Given the description of an element on the screen output the (x, y) to click on. 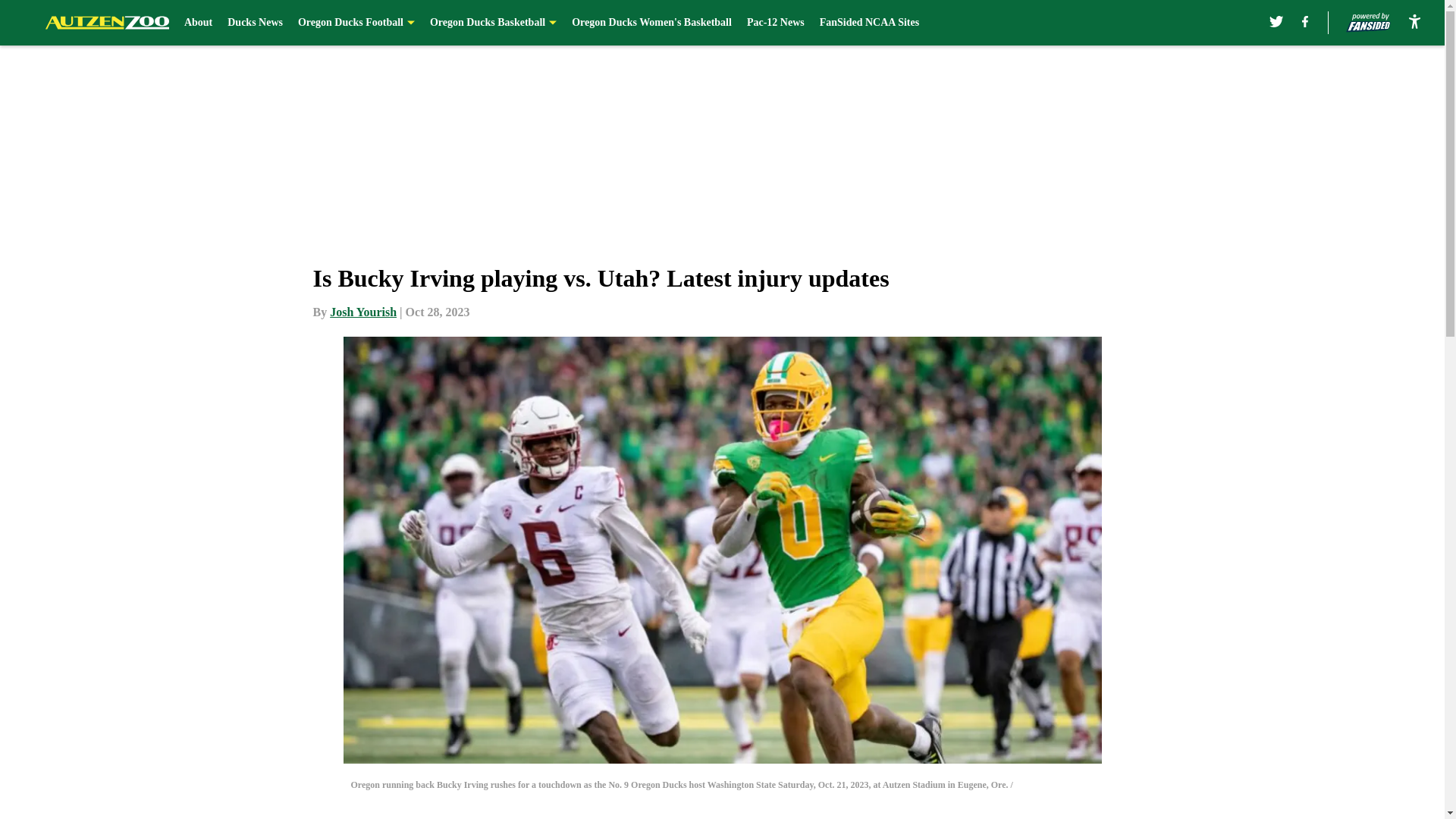
Oregon Ducks Women's Basketball (652, 22)
Ducks News (254, 22)
FanSided NCAA Sites (868, 22)
Josh Yourish (363, 311)
Pac-12 News (775, 22)
About (198, 22)
